Given the description of an element on the screen output the (x, y) to click on. 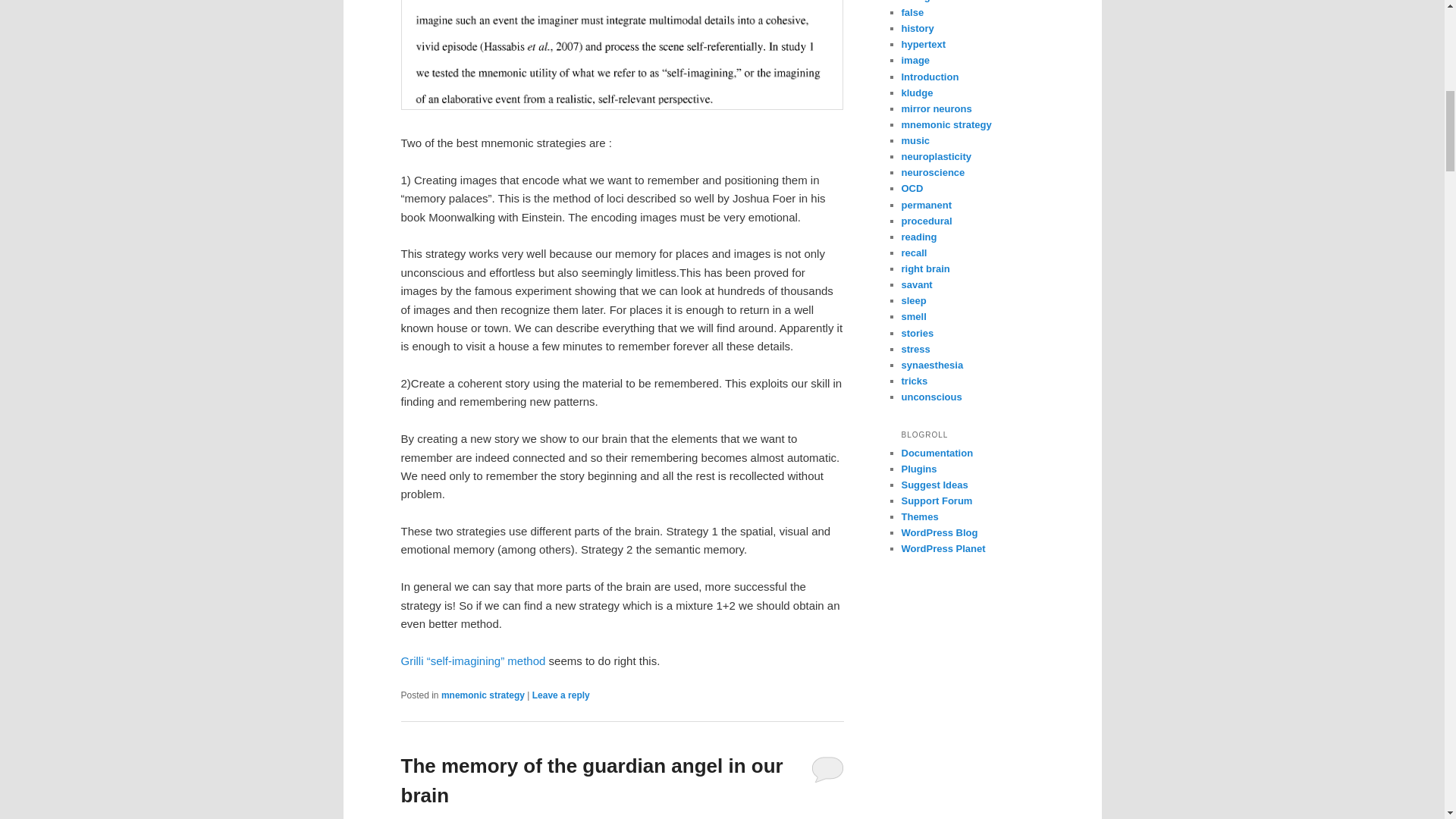
Permalink to The memory of the guardian angel in our brain (591, 780)
April 19, 2012 (473, 818)
4:47 pm (473, 818)
mnemonic strategy (482, 695)
The memory of the guardian angel in our brain (591, 780)
Leave a reply (560, 695)
Paper about self-imagining (474, 660)
